Given the description of an element on the screen output the (x, y) to click on. 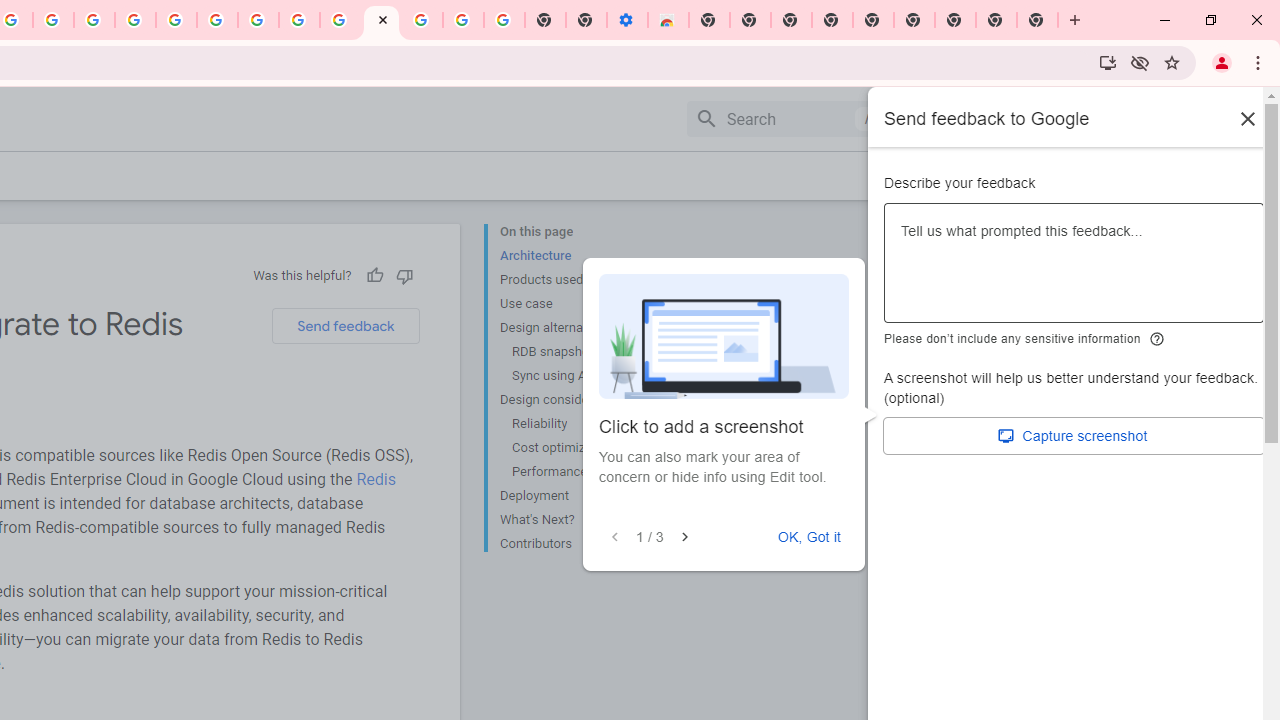
Not helpful (404, 275)
Reliability (585, 423)
New Tab (955, 20)
Describe your feedback (1074, 271)
Docs, selected (942, 119)
Search (786, 118)
Sync using Active-Passive (585, 376)
Contributors (580, 542)
Design alternatives (580, 327)
Start free (1182, 175)
Google Account Help (217, 20)
New Tab (1037, 20)
Architecture (580, 255)
Next (684, 537)
